Given the description of an element on the screen output the (x, y) to click on. 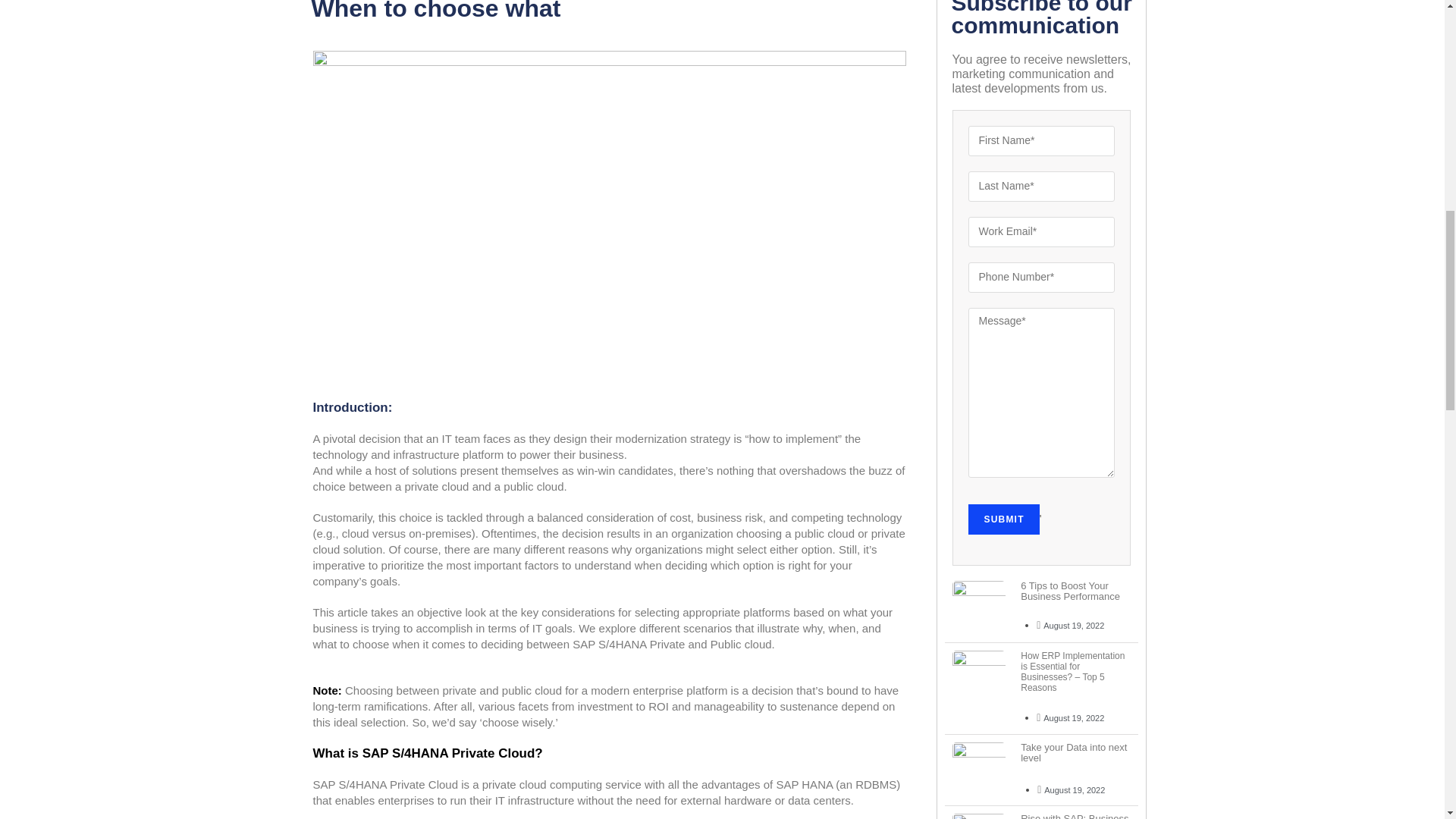
Submit (1003, 519)
